Given the description of an element on the screen output the (x, y) to click on. 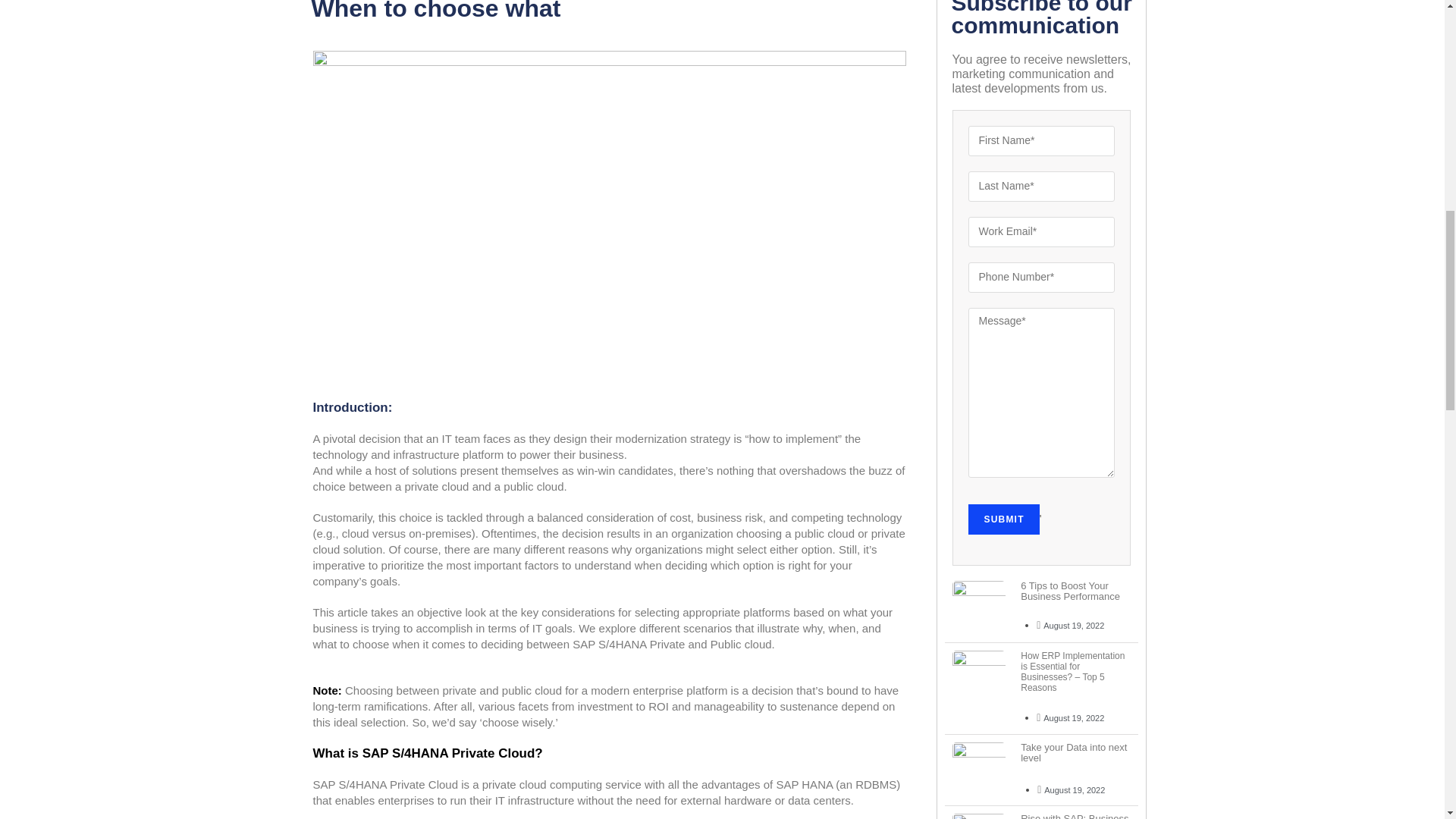
Submit (1003, 519)
